Given the description of an element on the screen output the (x, y) to click on. 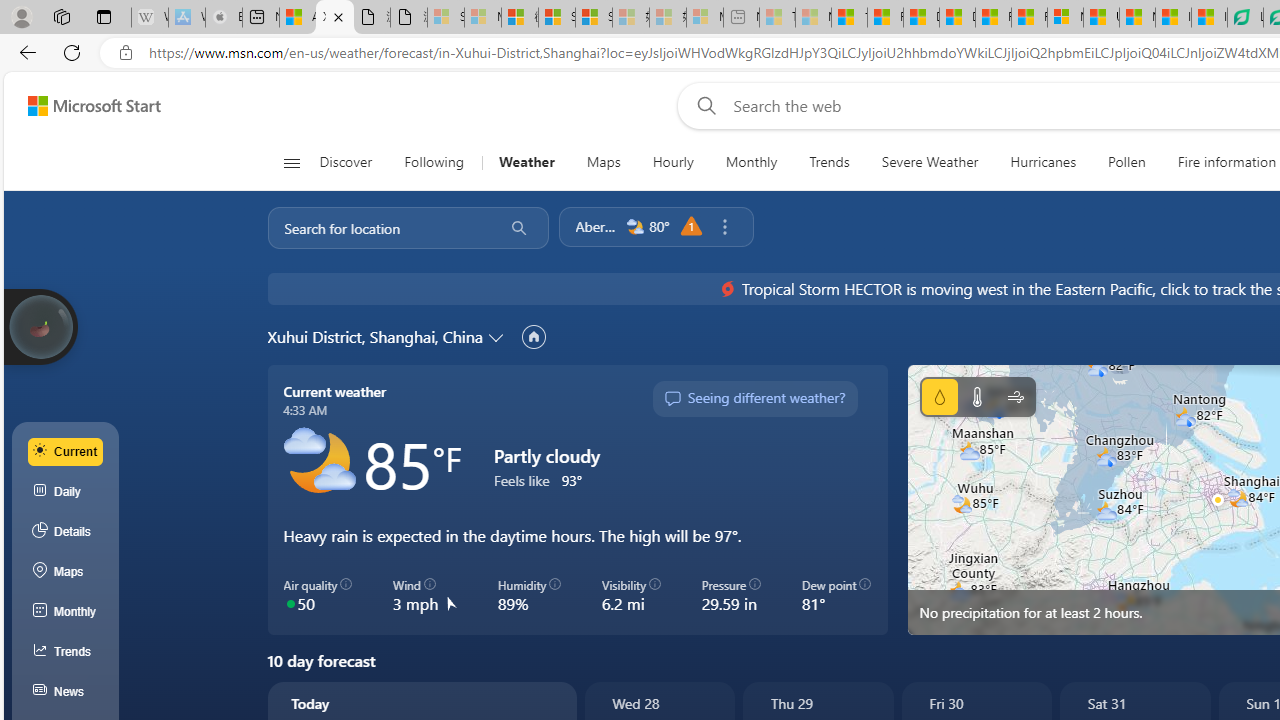
Details (65, 531)
Seeing different weather? (754, 398)
Drinking tea every day is proven to delay biological aging (957, 17)
Wikipedia - Sleeping (149, 17)
Hurricanes (1042, 162)
Search for location (379, 227)
Pollen (1126, 162)
Join us in planting real trees to help our planet! (40, 327)
Pressure 29.59 in (731, 595)
Precipitation (939, 396)
Skip to footer (82, 105)
